Given the description of an element on the screen output the (x, y) to click on. 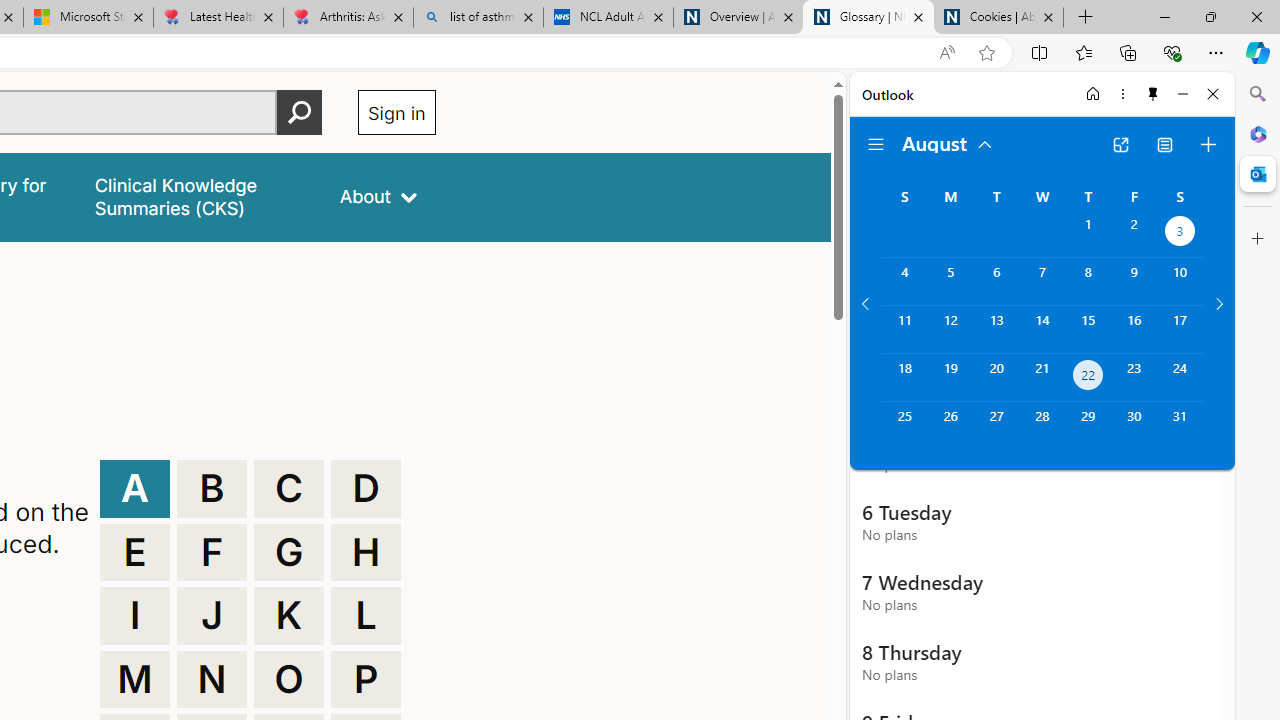
Friday, August 23, 2024.  (1134, 377)
L (365, 615)
D (365, 488)
Sunday, August 11, 2024.  (904, 329)
August (948, 141)
Monday, August 19, 2024.  (950, 377)
Sunday, August 18, 2024.  (904, 377)
Friday, August 9, 2024.  (1134, 281)
G (289, 551)
Wednesday, August 7, 2024.  (1042, 281)
Wednesday, August 21, 2024.  (1042, 377)
M (134, 679)
